Given the description of an element on the screen output the (x, y) to click on. 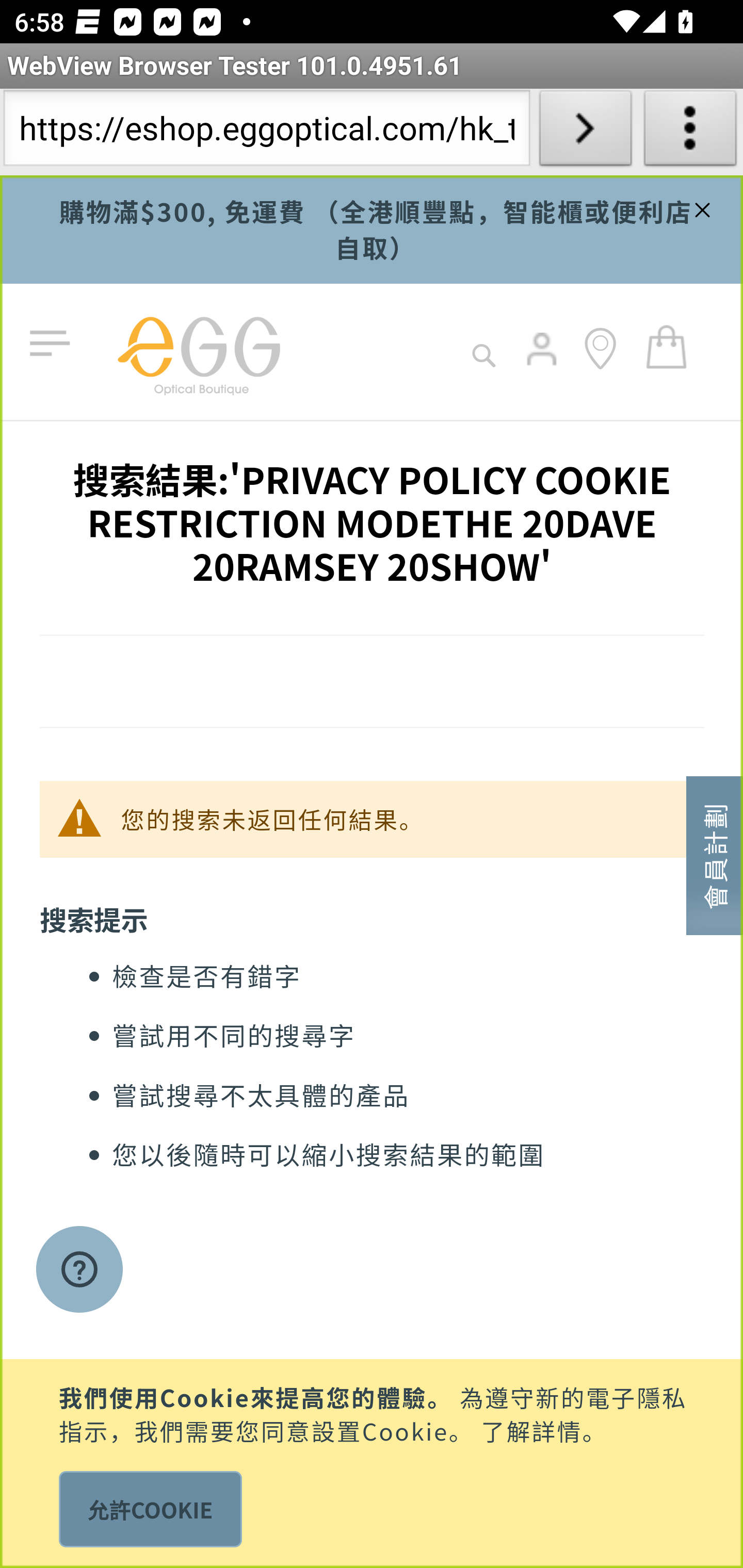
Load URL (585, 132)
About WebView (690, 132)
 (699, 206)
store logo eGG 網上商店 (198, 351)
切換導航 (54, 343)
我的購物車 (666, 345)
login (543, 362)
會員計劃 (714, 854)
Opens a widget where you can find more information (79, 1270)
了解詳情 (531, 1429)
允許COOKIE (149, 1509)
